Given the description of an element on the screen output the (x, y) to click on. 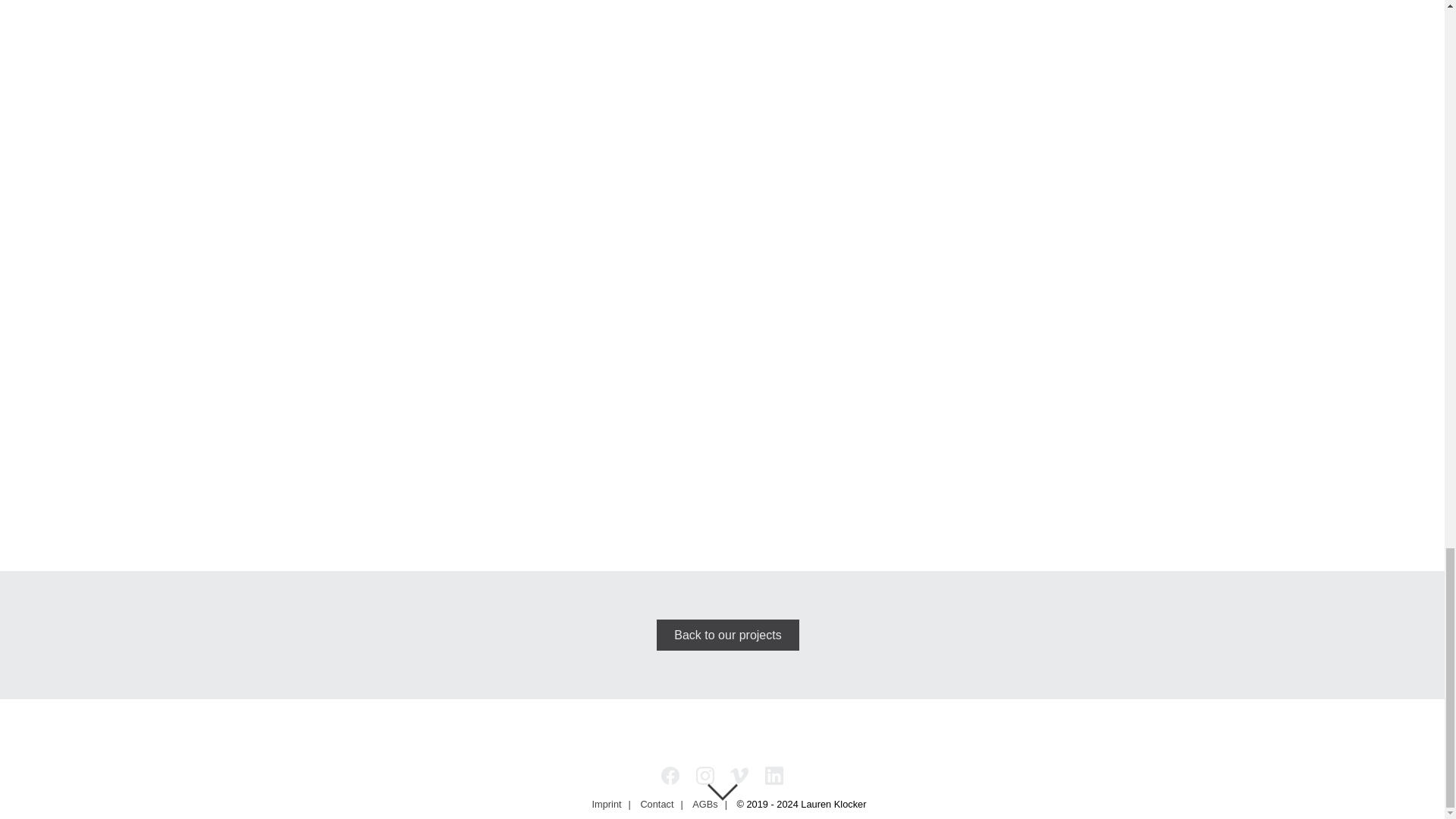
Imprint (606, 804)
Back to our projects (727, 634)
Contact (656, 804)
AGBs (704, 804)
